Given the description of an element on the screen output the (x, y) to click on. 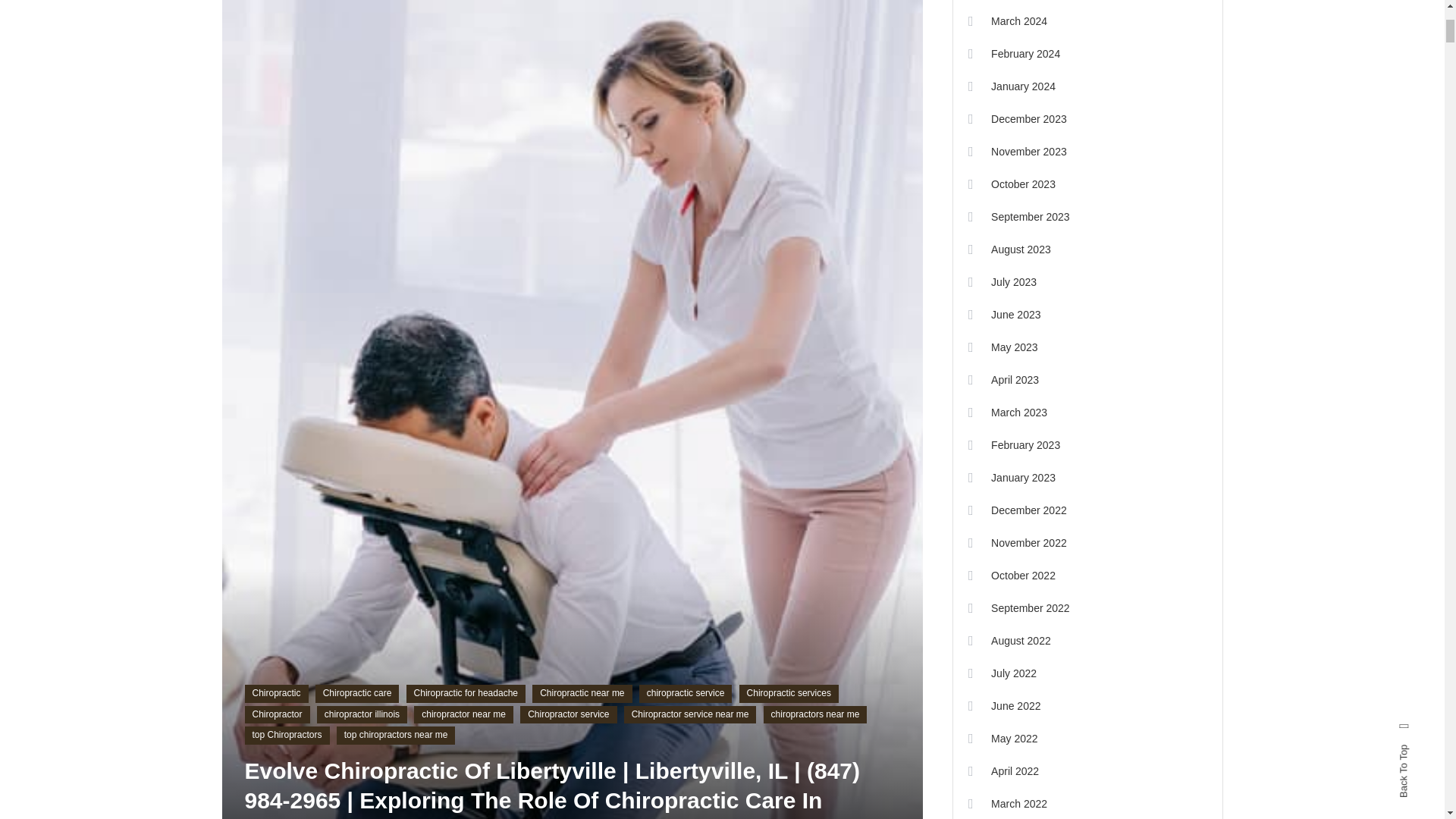
Chiropractic care (356, 693)
Chiropractic for headache (465, 693)
Chiropractic (275, 693)
